Given the description of an element on the screen output the (x, y) to click on. 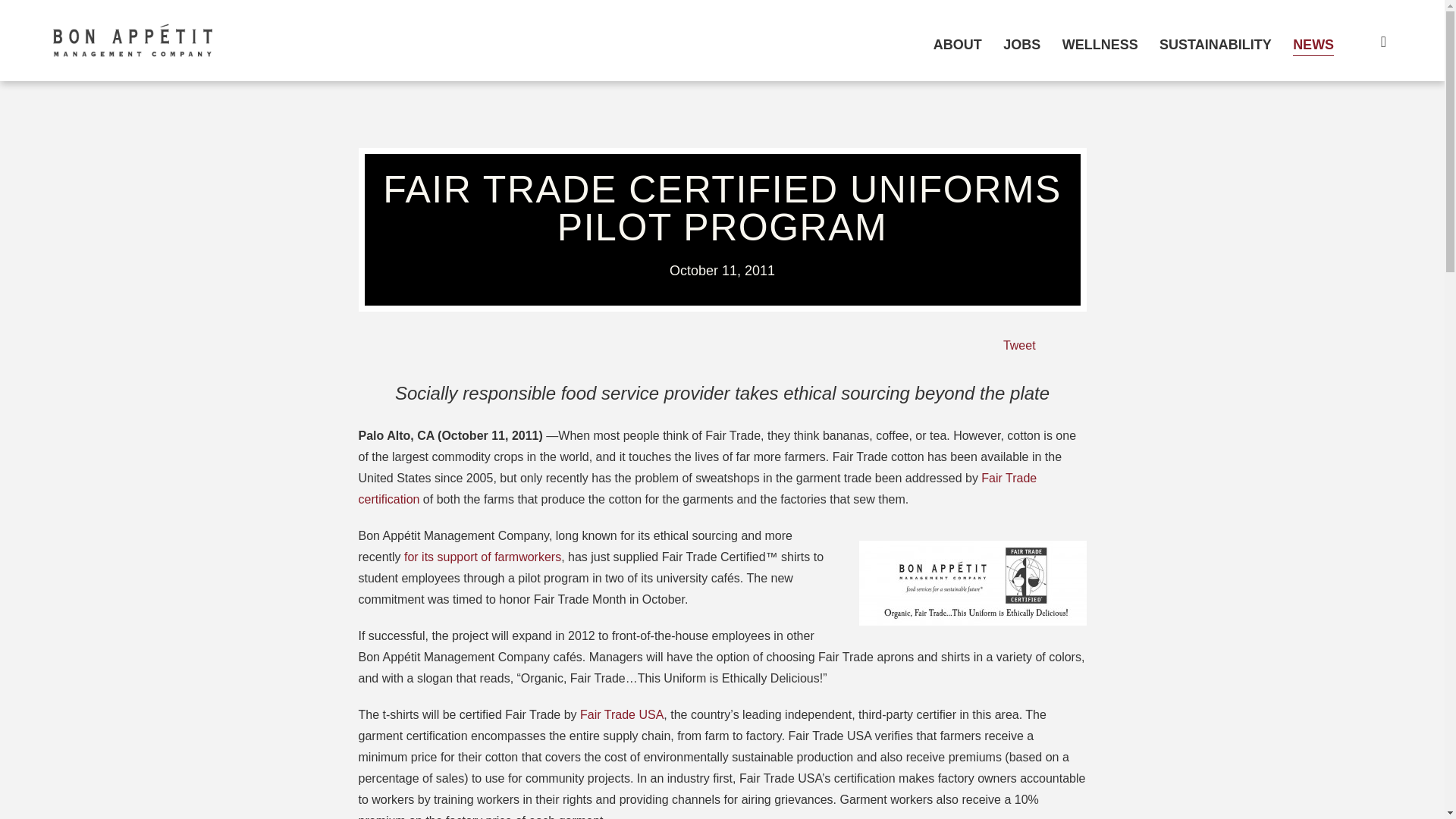
ABOUT (957, 43)
SUSTAINABILITY (1214, 43)
Search (1373, 41)
JOBS (1022, 43)
WELLNESS (1100, 43)
